Given the description of an element on the screen output the (x, y) to click on. 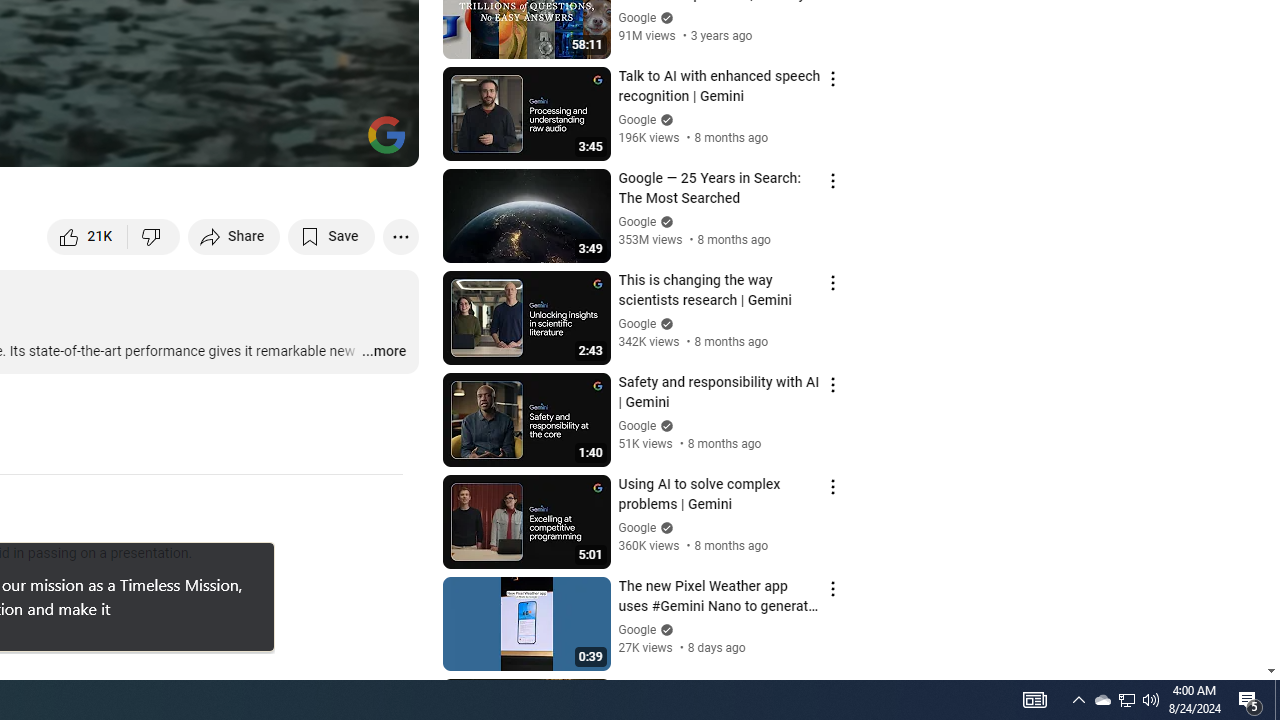
like this video along with 21,118 other people (88, 236)
Action menu (832, 690)
Verified (664, 629)
Dislike this video (154, 236)
More actions (399, 236)
Channel watermark (386, 134)
Settings (237, 142)
Miniplayer (i) (286, 142)
...more (382, 352)
Autoplay is on (141, 142)
